Given the description of an element on the screen output the (x, y) to click on. 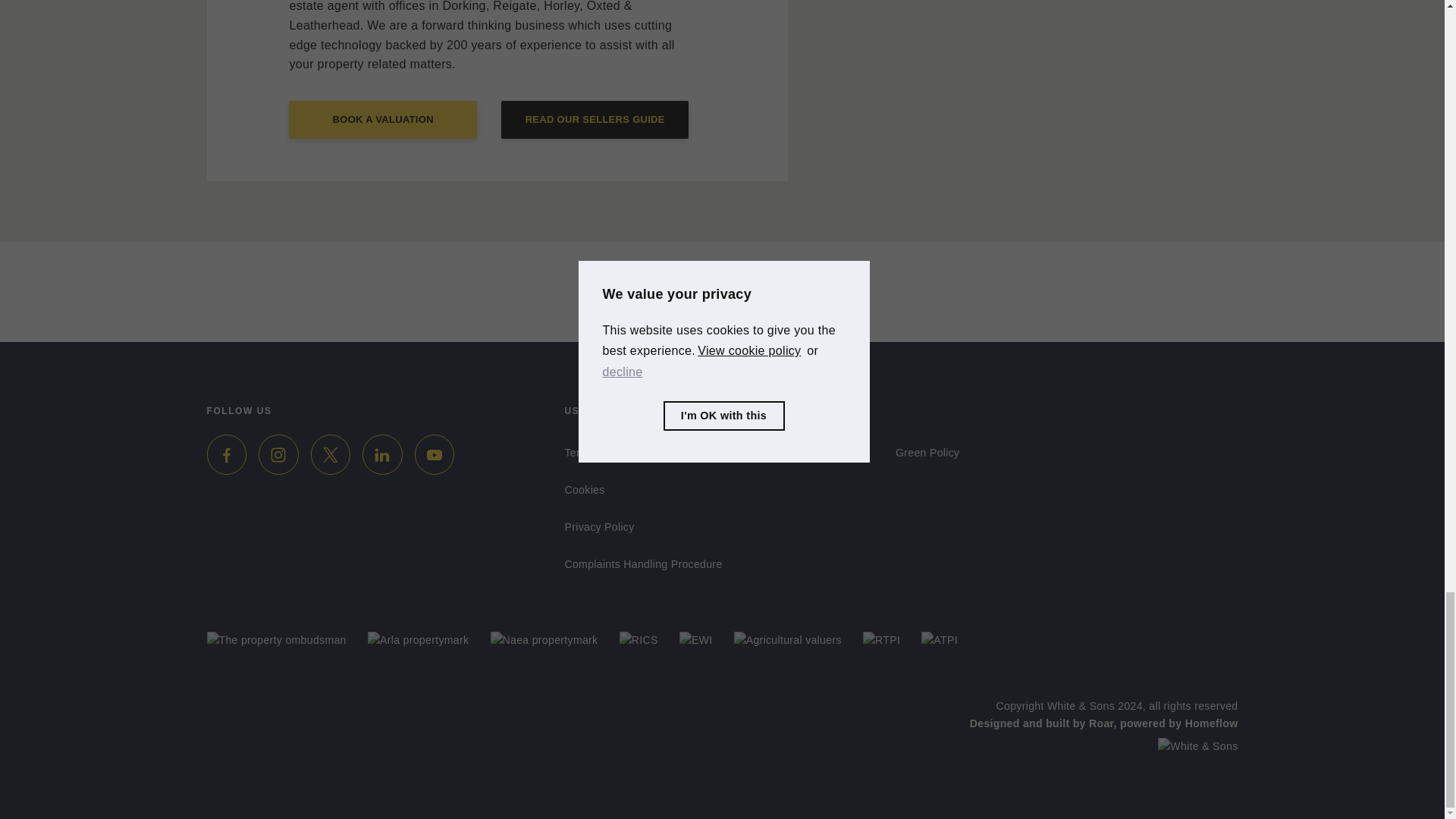
READ OUR SELLERS GUIDE (594, 119)
BOOK A VALUATION (382, 119)
